Given the description of an element on the screen output the (x, y) to click on. 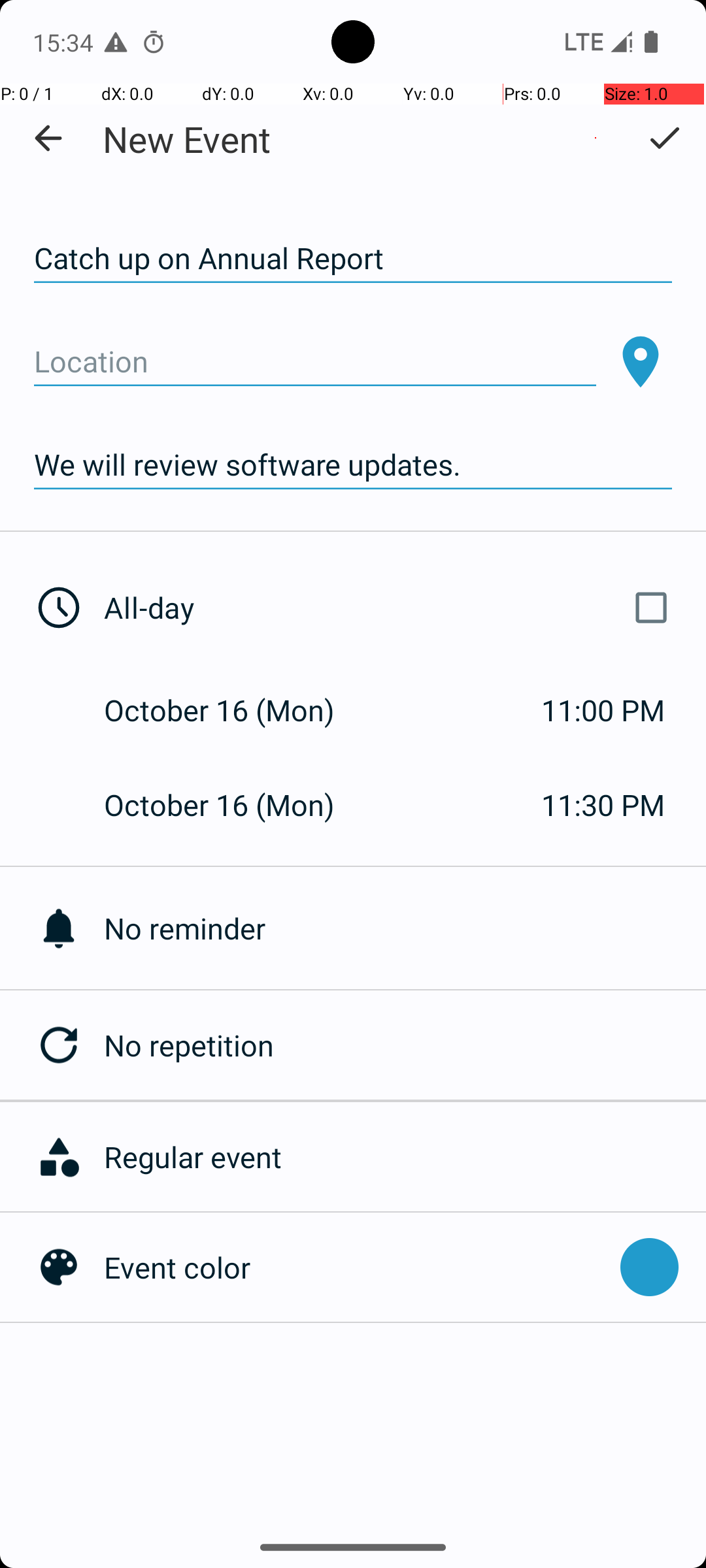
Catch up on Annual Report Element type: android.widget.EditText (352, 258)
We will review software updates. Element type: android.widget.EditText (352, 465)
October 16 (Mon) Element type: android.widget.TextView (232, 709)
11:00 PM Element type: android.widget.TextView (602, 709)
11:30 PM Element type: android.widget.TextView (602, 804)
